Given the description of an element on the screen output the (x, y) to click on. 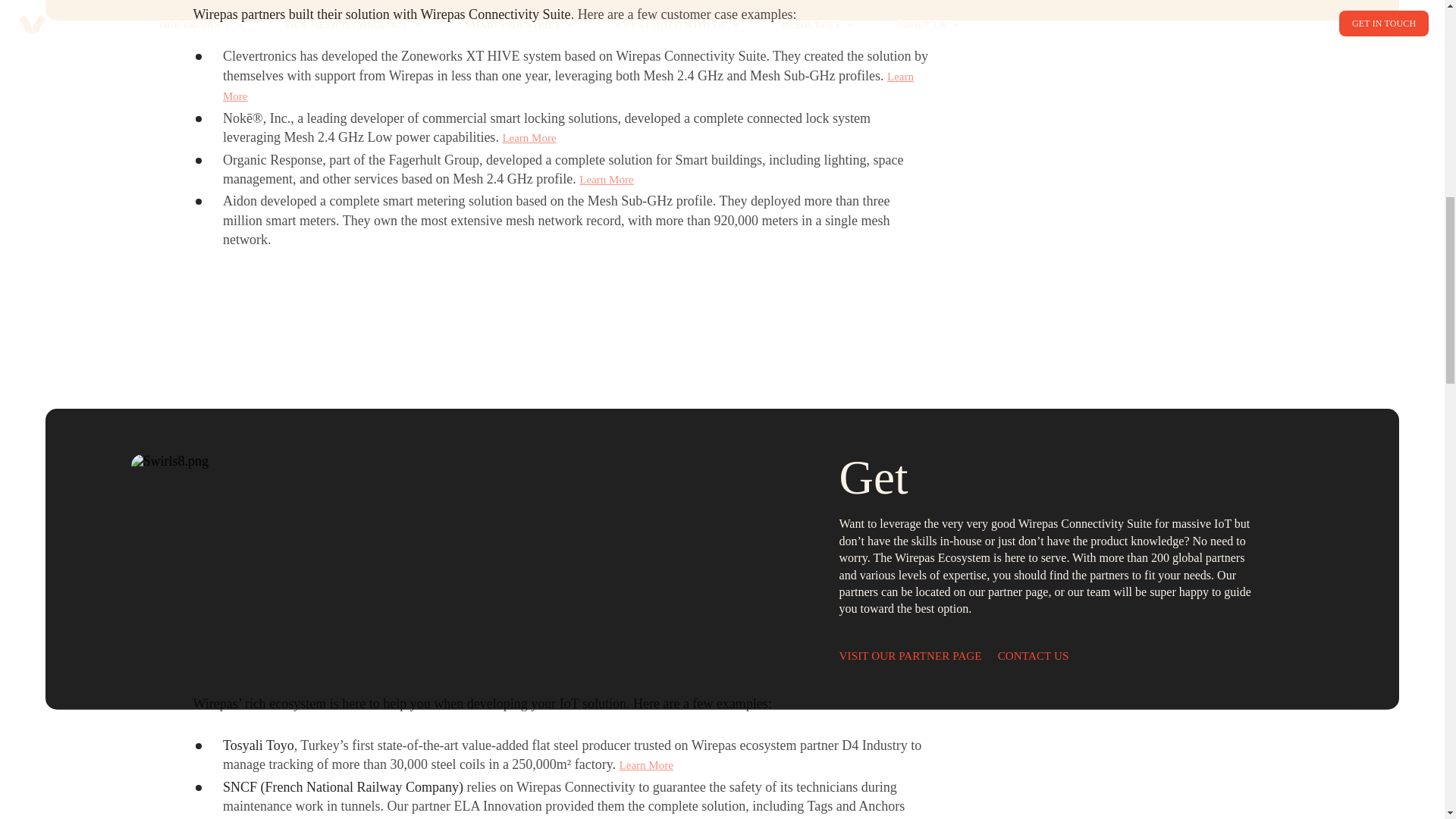
VISIT OUR PARTNER PAGE (910, 656)
Learn More (606, 179)
CONTACT US (1032, 656)
Learn More (568, 86)
Learn More (529, 137)
